Given the description of an element on the screen output the (x, y) to click on. 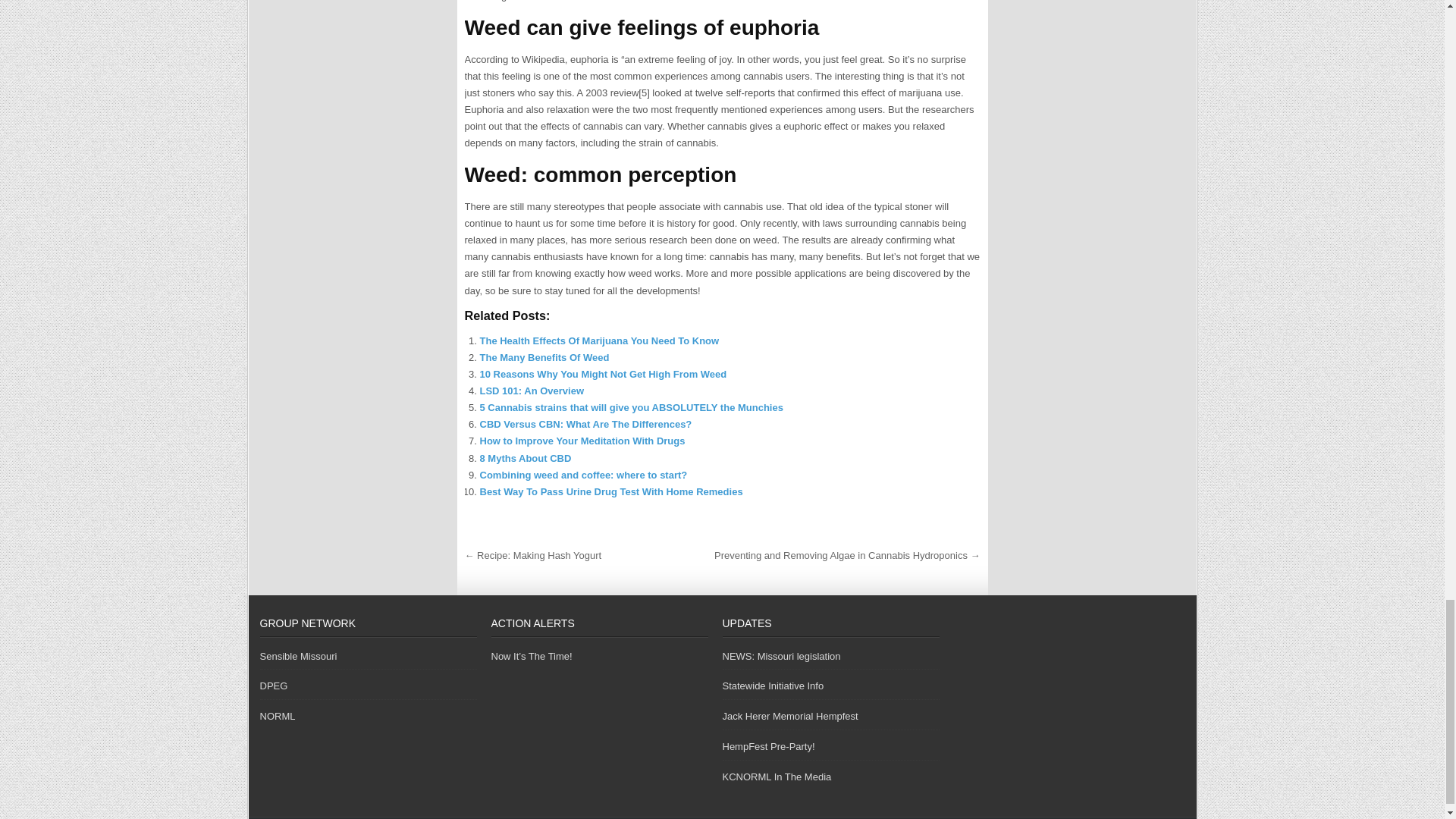
The Many Benefits Of Weed (543, 357)
10 Reasons Why You Might Not Get High From Weed (602, 374)
Best Way To Pass Urine Drug Test With Home Remedies (610, 491)
Combining weed and coffee: where to start? (583, 474)
CBD Versus CBN: What Are The Differences? (585, 423)
8 Myths About CBD (524, 458)
LSD 101: An Overview (531, 390)
Best Way To Pass Urine Drug Test With Home Remedies (610, 491)
How to Improve Your Meditation With Drugs (581, 440)
The Health Effects Of Marijuana You Need To Know (599, 340)
How to Improve Your Meditation With Drugs (581, 440)
The Health Effects Of Marijuana You Need To Know (599, 340)
10 Reasons Why You Might Not Get High From Weed (602, 374)
